Given the description of an element on the screen output the (x, y) to click on. 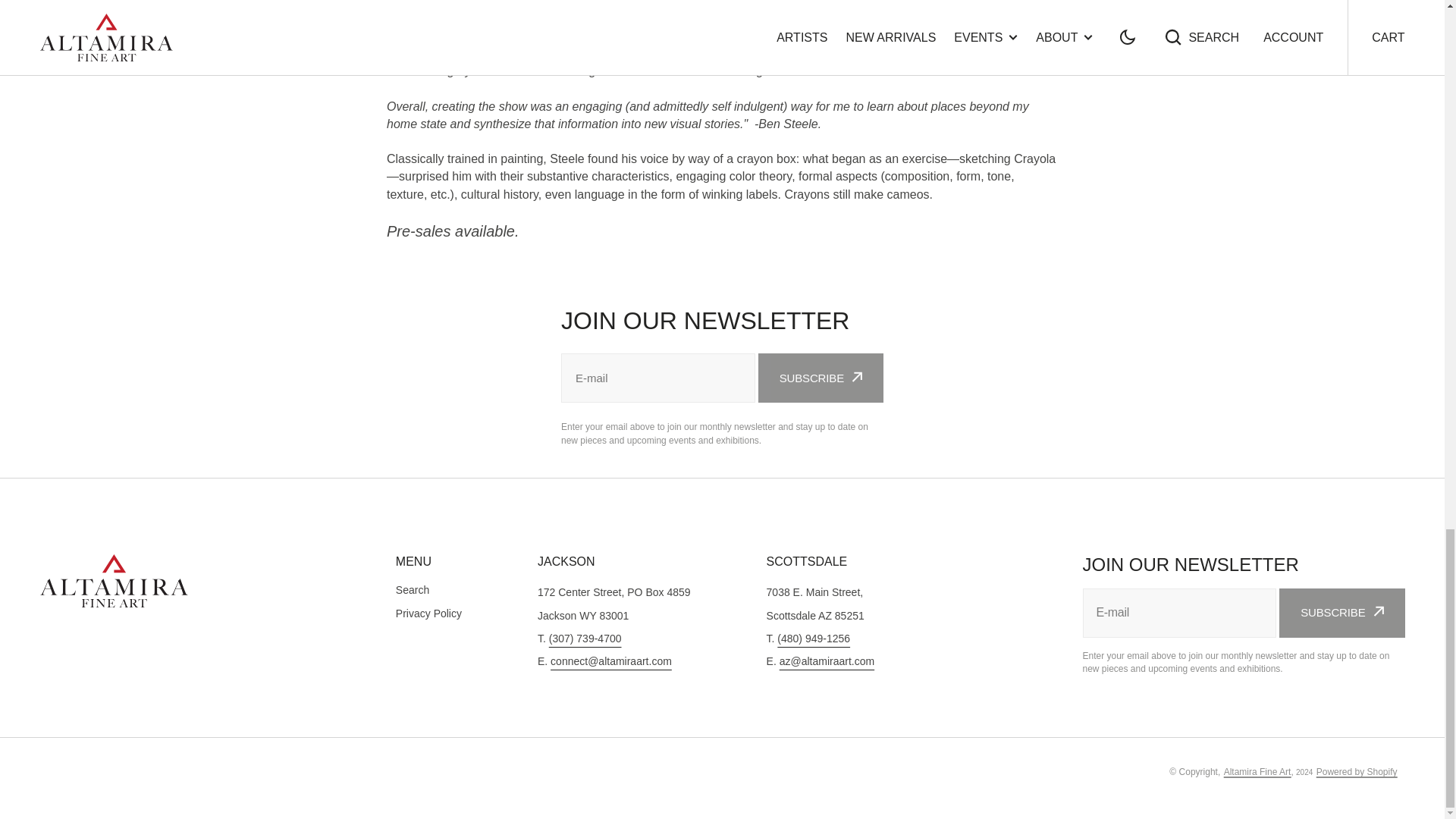
SUBSCRIBE (820, 377)
